Given the description of an element on the screen output the (x, y) to click on. 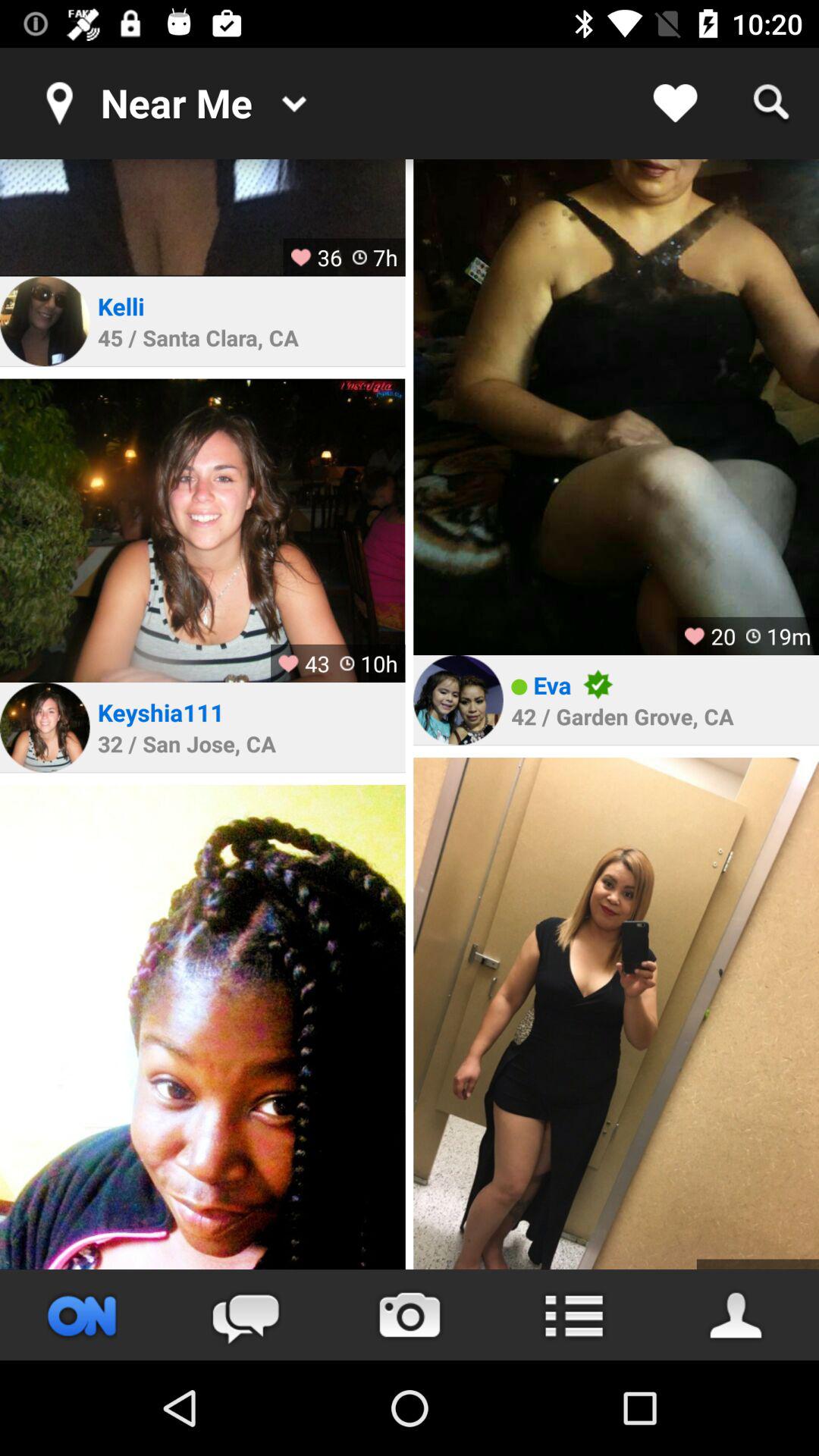
contact person (737, 1315)
